Given the description of an element on the screen output the (x, y) to click on. 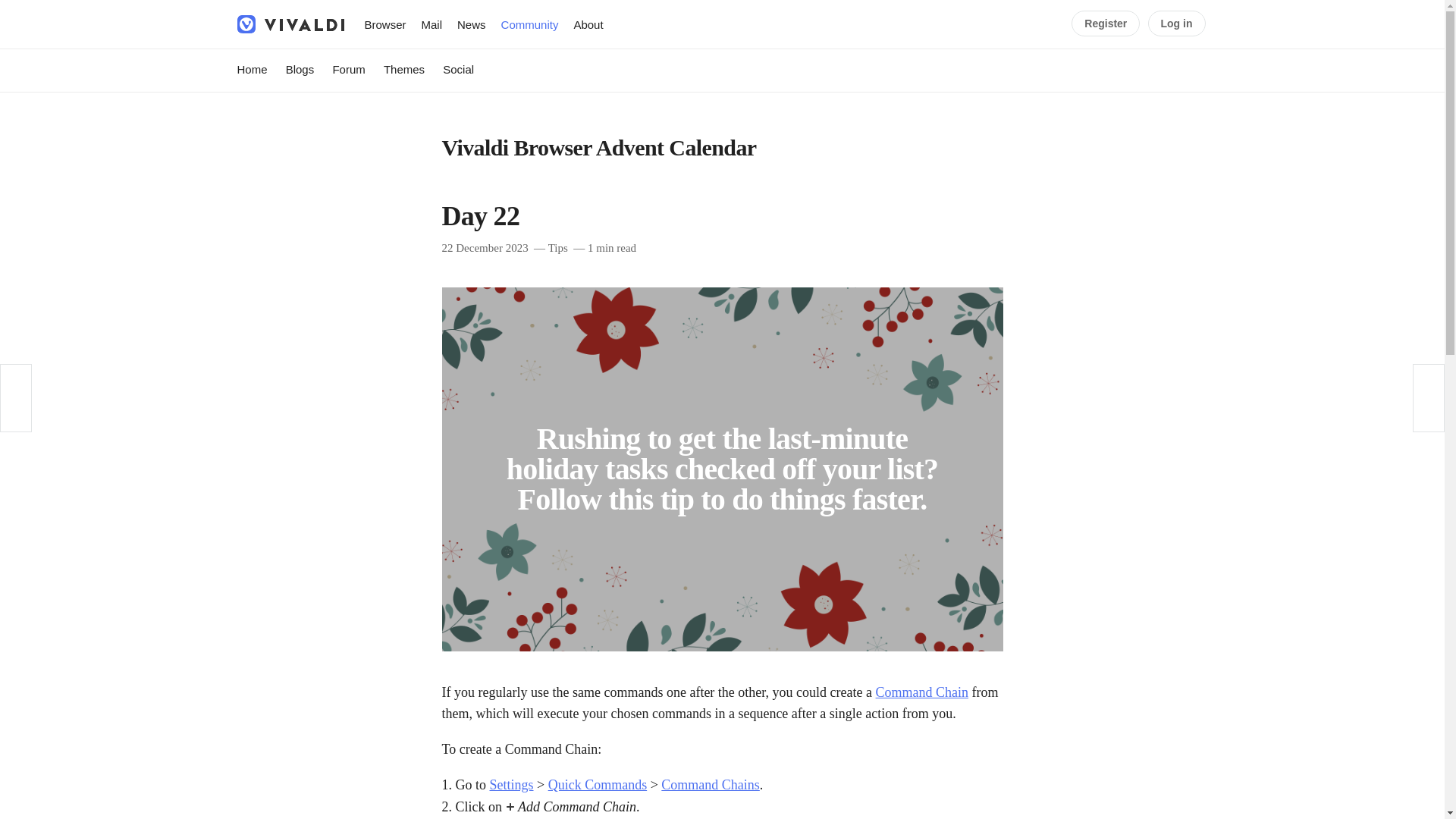
Mail (431, 24)
Community (529, 24)
Vivaldi Browser Advent Calendar (598, 146)
Command Chains (710, 784)
News (471, 24)
Browser (384, 24)
Quick Commands (597, 784)
Tips (557, 247)
22 December 2023 (484, 247)
Command Chain (922, 692)
Settings (511, 784)
